Given the description of an element on the screen output the (x, y) to click on. 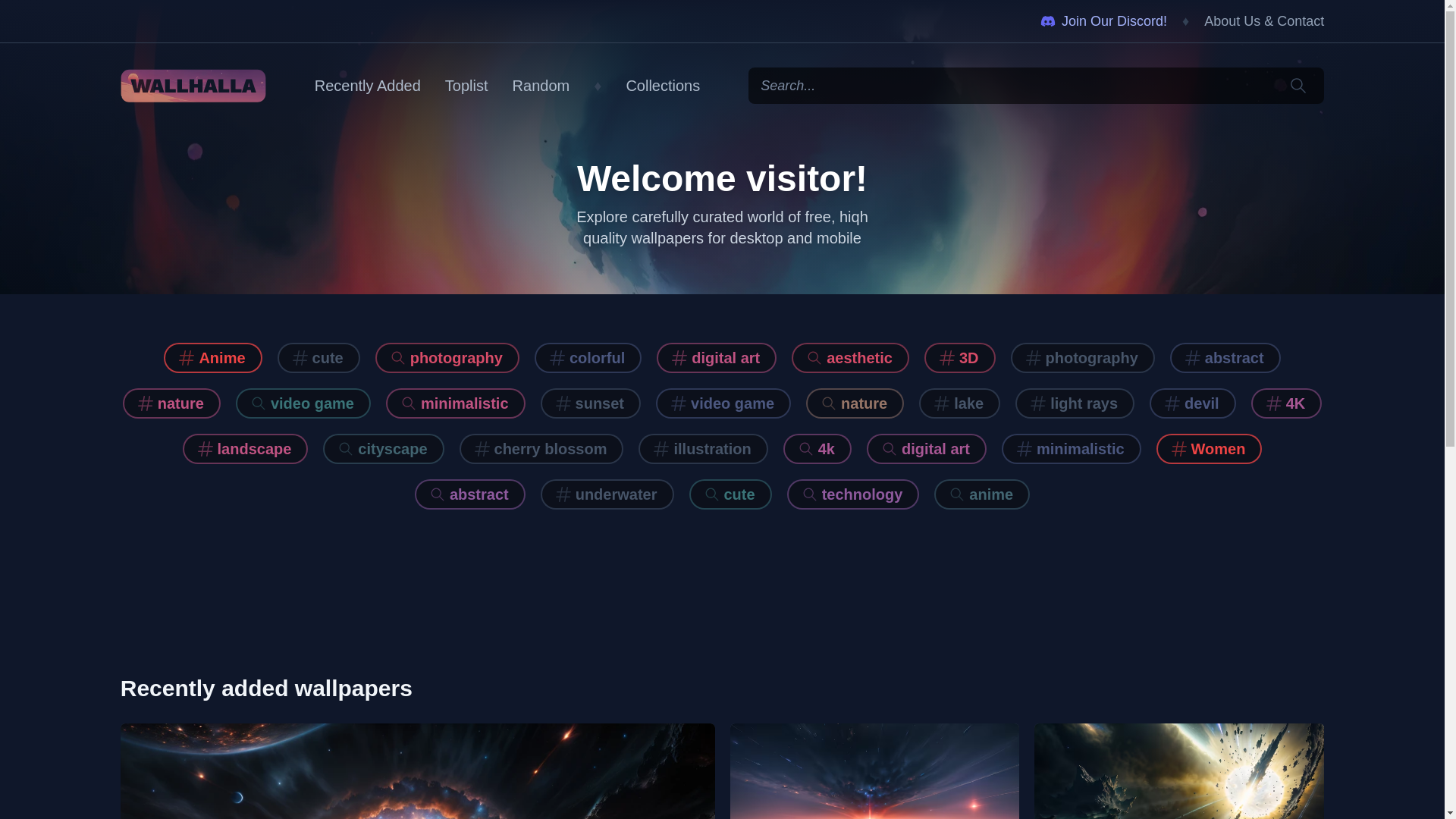
4k Element type: text (817, 448)
cute Element type: text (318, 357)
light rays Element type: text (1074, 403)
Search Element type: hover (1297, 85)
digital art Element type: text (926, 448)
devil Element type: text (1192, 403)
cute Element type: text (729, 494)
colorful Element type: text (587, 357)
landscape Element type: text (245, 448)
abstract Element type: text (469, 494)
aesthetic Element type: text (850, 357)
Anime Element type: text (212, 357)
cityscape Element type: text (383, 448)
cherry blossom Element type: text (541, 448)
anime Element type: text (981, 494)
Recently Added Element type: text (367, 85)
minimalistic Element type: text (455, 403)
nature Element type: text (854, 403)
Collections Element type: text (662, 85)
lake Element type: text (959, 403)
Women Element type: text (1209, 448)
video game Element type: text (722, 403)
Advertisement Element type: hover (721, 592)
sunset Element type: text (590, 403)
abstract Element type: text (1225, 357)
digital art Element type: text (716, 357)
3D Element type: text (959, 357)
photography Element type: text (1082, 357)
Toplist Element type: text (466, 85)
underwater Element type: text (607, 494)
Wallhalla - Free High-Quality Desktop & Mobile Wallpapers Element type: hover (193, 86)
illustration Element type: text (702, 448)
video game Element type: text (302, 403)
Join Our Discord! Element type: text (1103, 20)
About Us & Contact Element type: text (1264, 20)
nature Element type: text (171, 403)
technology Element type: text (853, 494)
photography Element type: text (447, 357)
minimalistic Element type: text (1071, 448)
Random Element type: text (541, 85)
4K Element type: text (1286, 403)
